Given the description of an element on the screen output the (x, y) to click on. 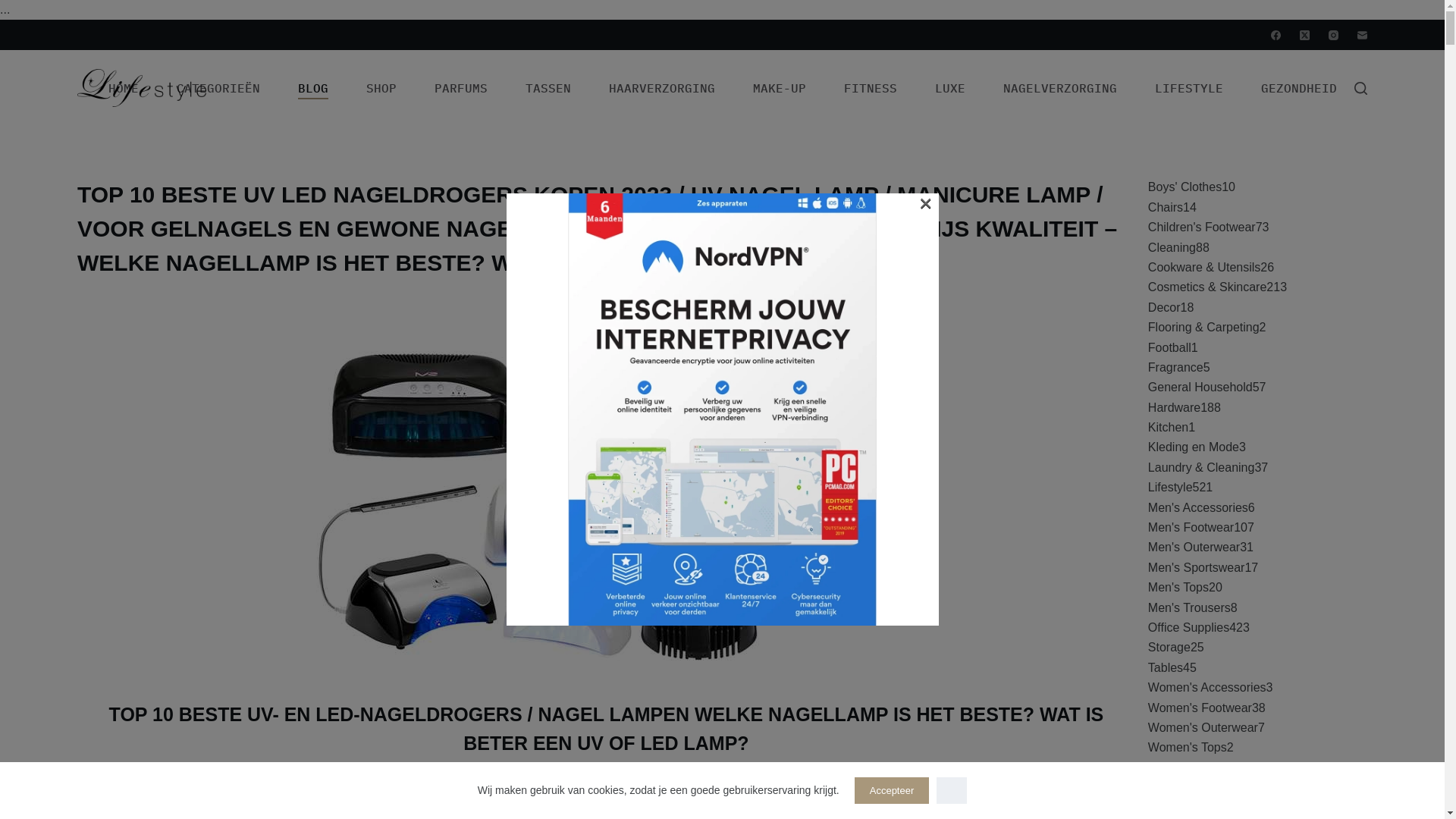
Hardware Element type: text (1174, 407)
TASSEN Element type: text (547, 87)
FITNESS Element type: text (870, 87)
Decor Element type: text (1164, 307)
Men's Trousers Element type: text (1189, 607)
LIFESTYLE Element type: text (1188, 87)
Chairs Element type: text (1165, 206)
Boys' Clothes Element type: text (1184, 186)
Accessoires Element type: text (1180, 787)
Cookware & Utensils Element type: text (1204, 266)
HOME Element type: text (123, 87)
Cleaning Element type: text (1171, 247)
Kitchen Element type: text (1168, 426)
Women's Tops Element type: text (1187, 746)
Fragrance Element type: text (1175, 366)
General Household Element type: text (1200, 386)
Cosmetics & Skincare Element type: text (1207, 286)
Kleding en Mode Element type: text (1193, 446)
Women's Outerwear Element type: text (1203, 727)
Alle Zonnebrillen Element type: text (1193, 806)
Men's Outerwear Element type: text (1193, 546)
GEZONDHEID Element type: text (1298, 87)
Storage Element type: text (1169, 646)
Laundry & Cleaning Element type: text (1201, 467)
Accepteer Element type: text (891, 790)
Doorgaan naar artikel Element type: text (15, 7)
Women's Footwear Element type: text (1200, 707)
BLOG Element type: text (313, 87)
Office Supplies Element type: text (1188, 627)
PARFUMS Element type: text (460, 87)
Men's Footwear Element type: text (1190, 526)
SHOP Element type: text (381, 87)
Tables Element type: text (1165, 667)
Women's Accessories Element type: text (1207, 686)
Children's Footwear Element type: text (1201, 226)
HAARVERZORGING Element type: text (661, 87)
Men's Accessories Element type: text (1198, 507)
Women's Trousers Element type: text (1198, 767)
Men's Sportswear Element type: text (1196, 567)
Lifestyle Element type: text (1170, 486)
Men's Tops Element type: text (1178, 586)
Football Element type: text (1169, 347)
MAKE-UP Element type: text (779, 87)
LUXE Element type: text (950, 87)
Flooring & Carpeting Element type: text (1203, 326)
NAGELVERZORGING Element type: text (1059, 87)
